Given the description of an element on the screen output the (x, y) to click on. 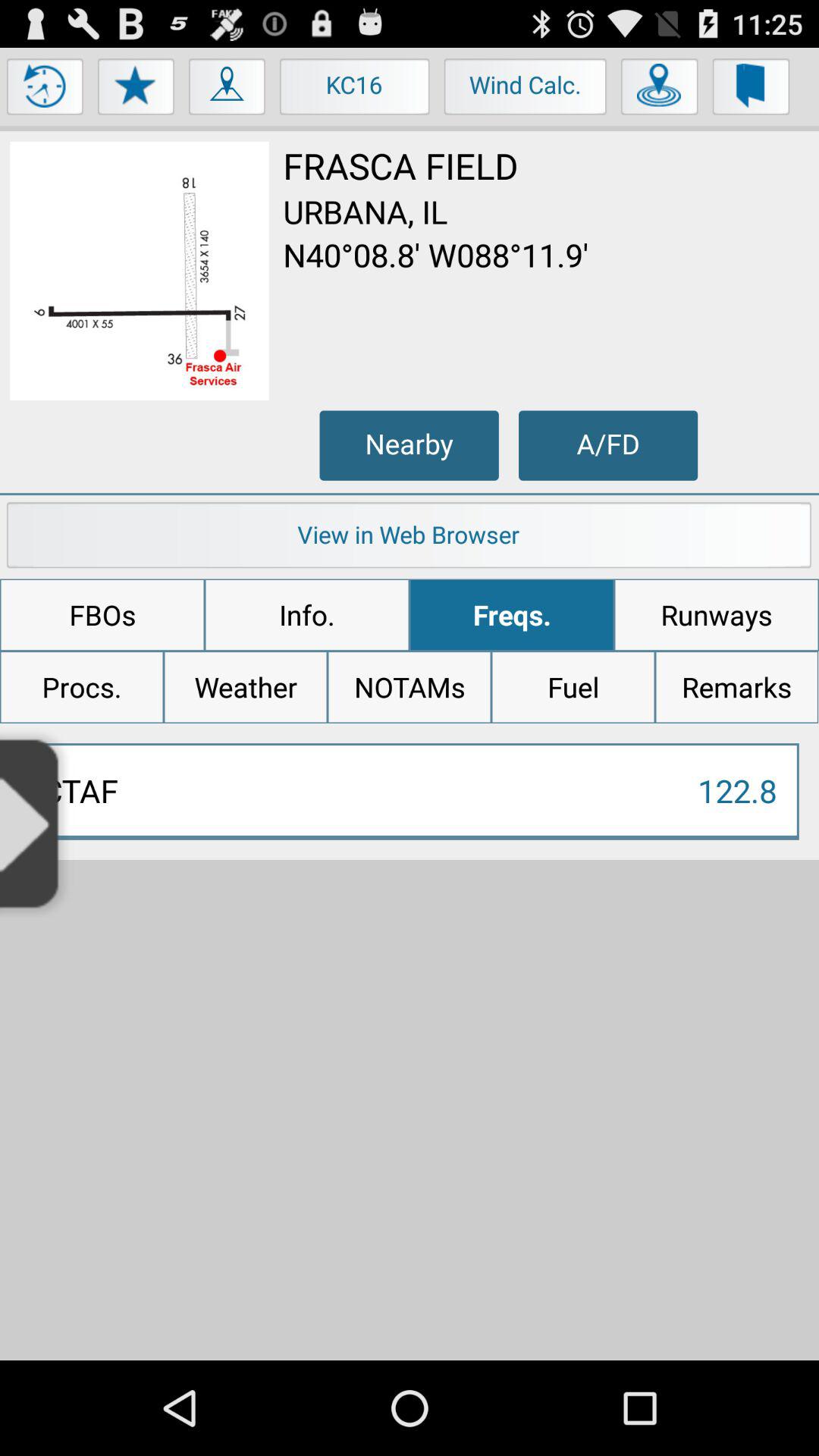
map of airfield (139, 270)
